Given the description of an element on the screen output the (x, y) to click on. 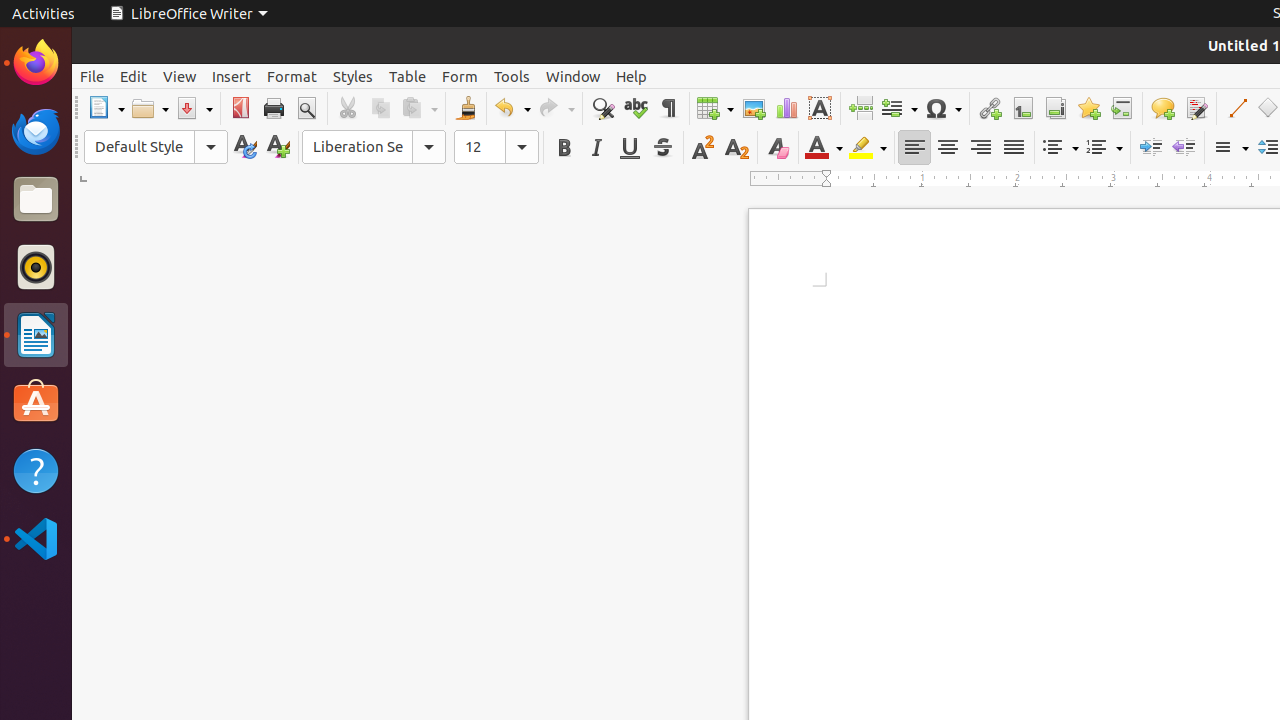
Update Element type: push-button (244, 147)
Justified Element type: toggle-button (1013, 147)
Table Element type: menu (407, 76)
Rhythmbox Element type: push-button (36, 267)
Bullets Element type: push-button (1060, 147)
